Given the description of an element on the screen output the (x, y) to click on. 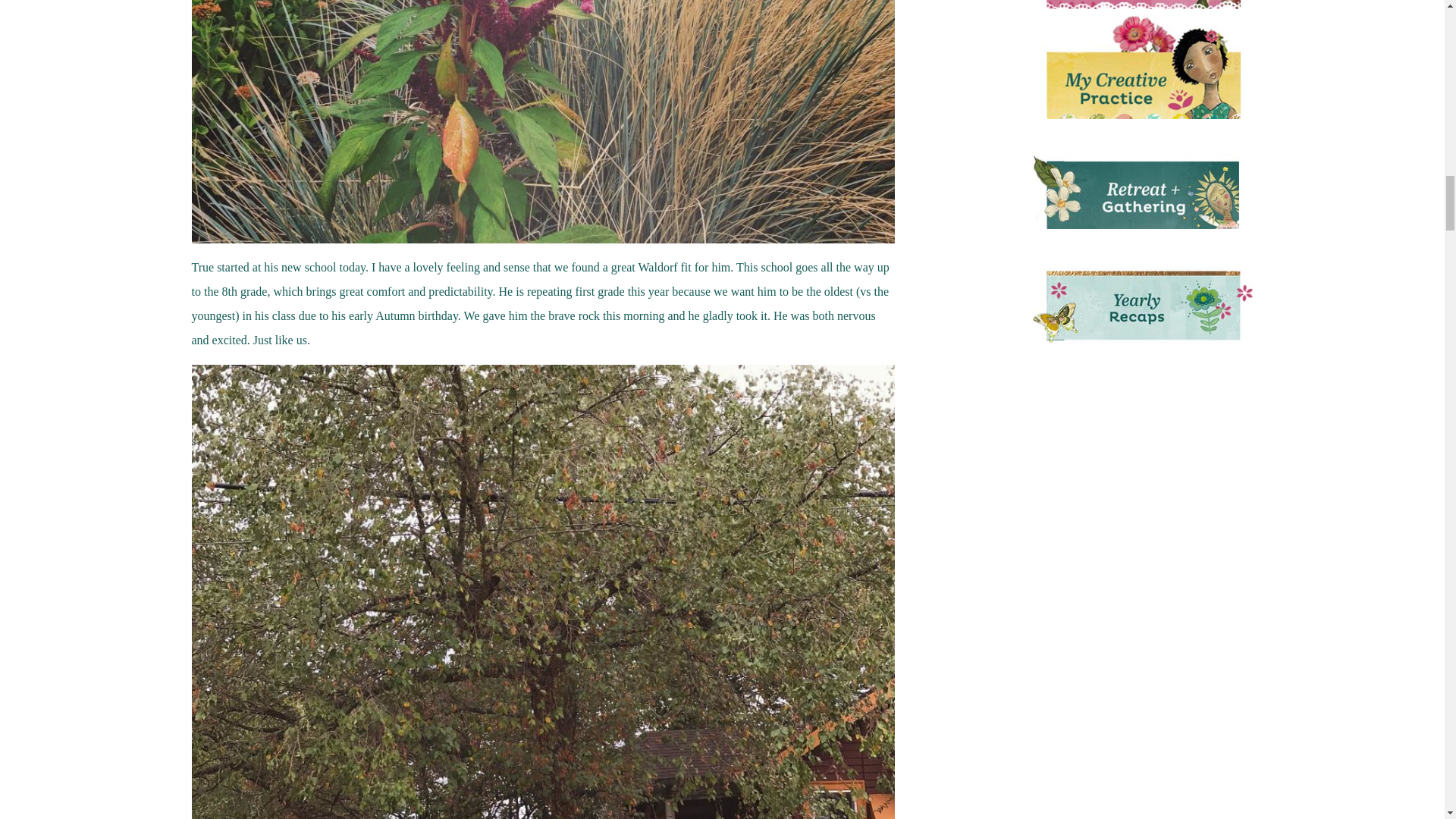
My Creative Practice (1141, 71)
Life in Progress (1141, 12)
